Given the description of an element on the screen output the (x, y) to click on. 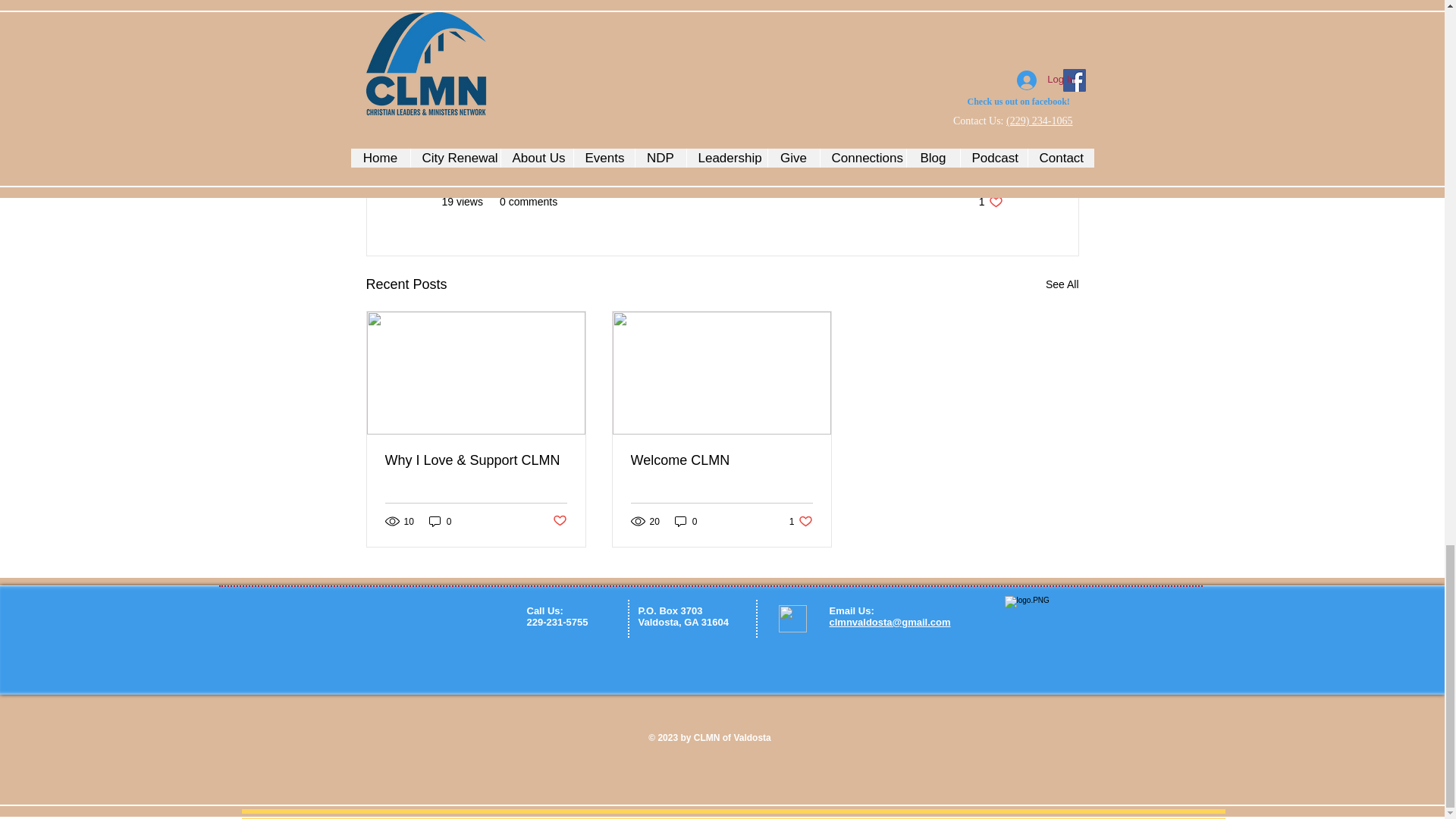
Post not marked as liked (800, 521)
0 (558, 521)
Welcome CLMN (440, 521)
0 (721, 460)
See All (685, 521)
